Given the description of an element on the screen output the (x, y) to click on. 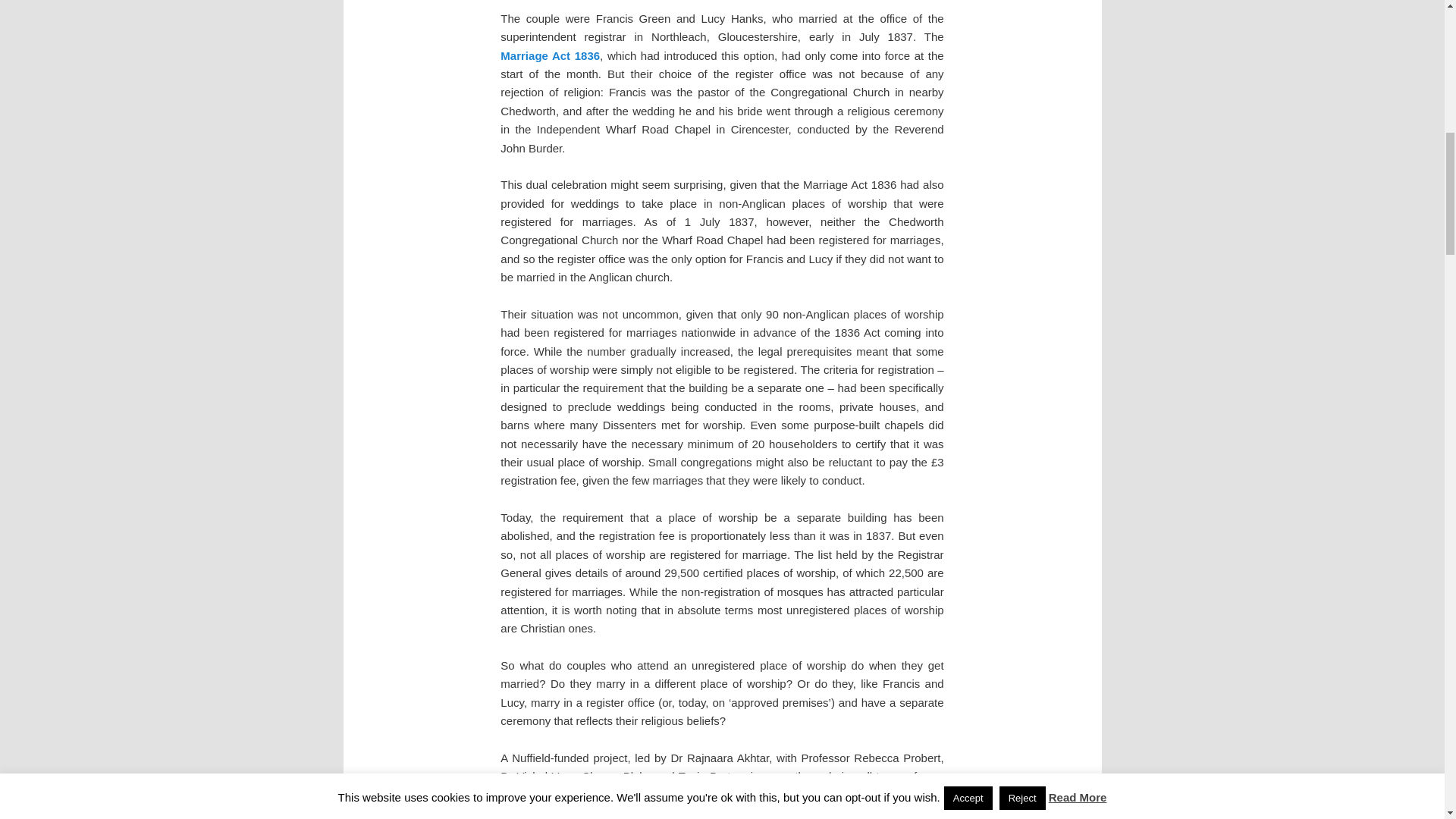
Marriage Act 1836 (549, 55)
